Given the description of an element on the screen output the (x, y) to click on. 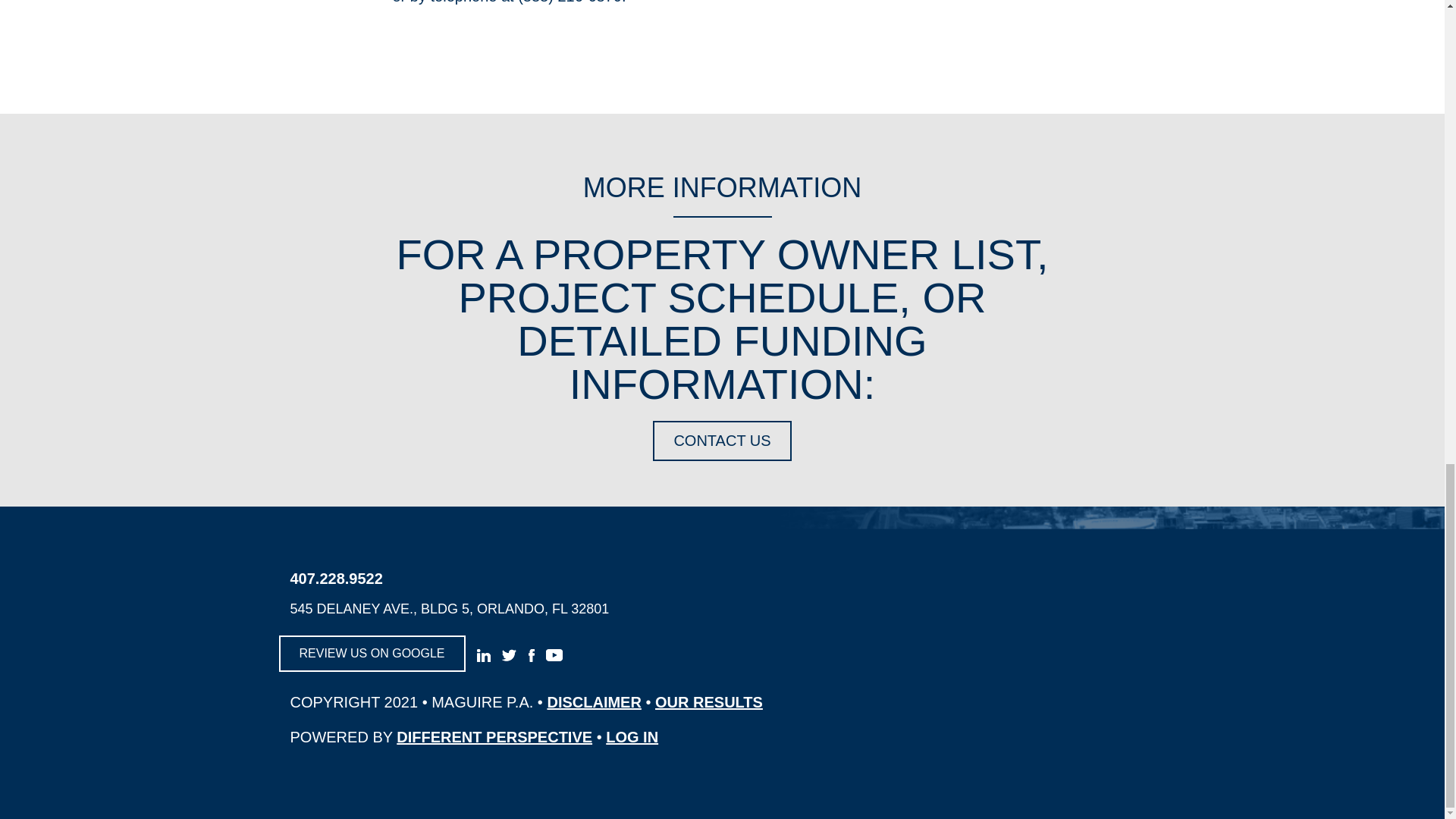
DISCLAIMER (593, 701)
DIFFERENT PERSPECTIVE (494, 736)
OUR RESULTS (708, 701)
LOG IN (631, 736)
CONTACT US (721, 440)
407.228.9522 (548, 578)
REVIEW US ON GOOGLE (372, 653)
